Given the description of an element on the screen output the (x, y) to click on. 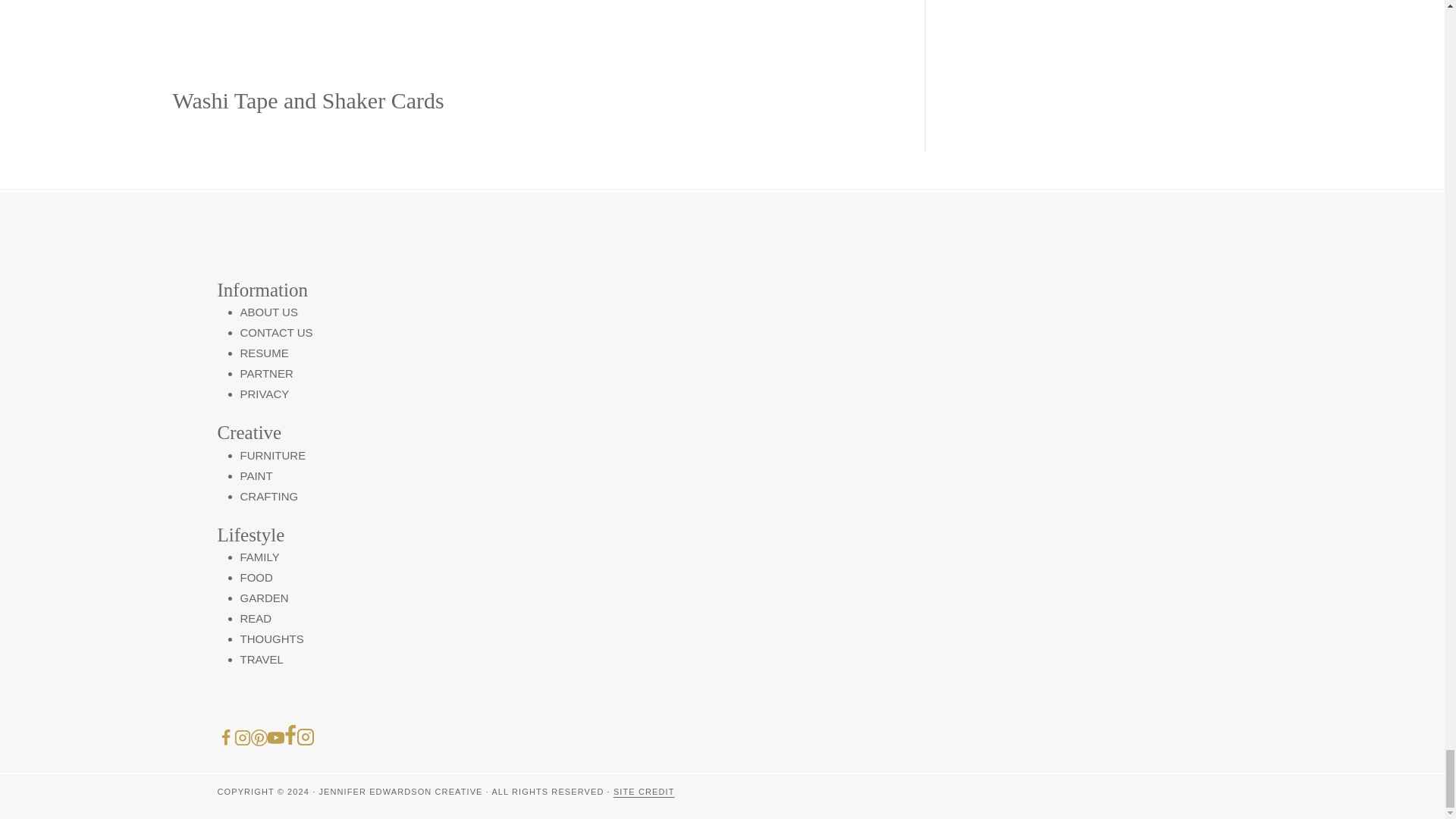
Instagram (304, 737)
Facebook (289, 735)
